Given the description of an element on the screen output the (x, y) to click on. 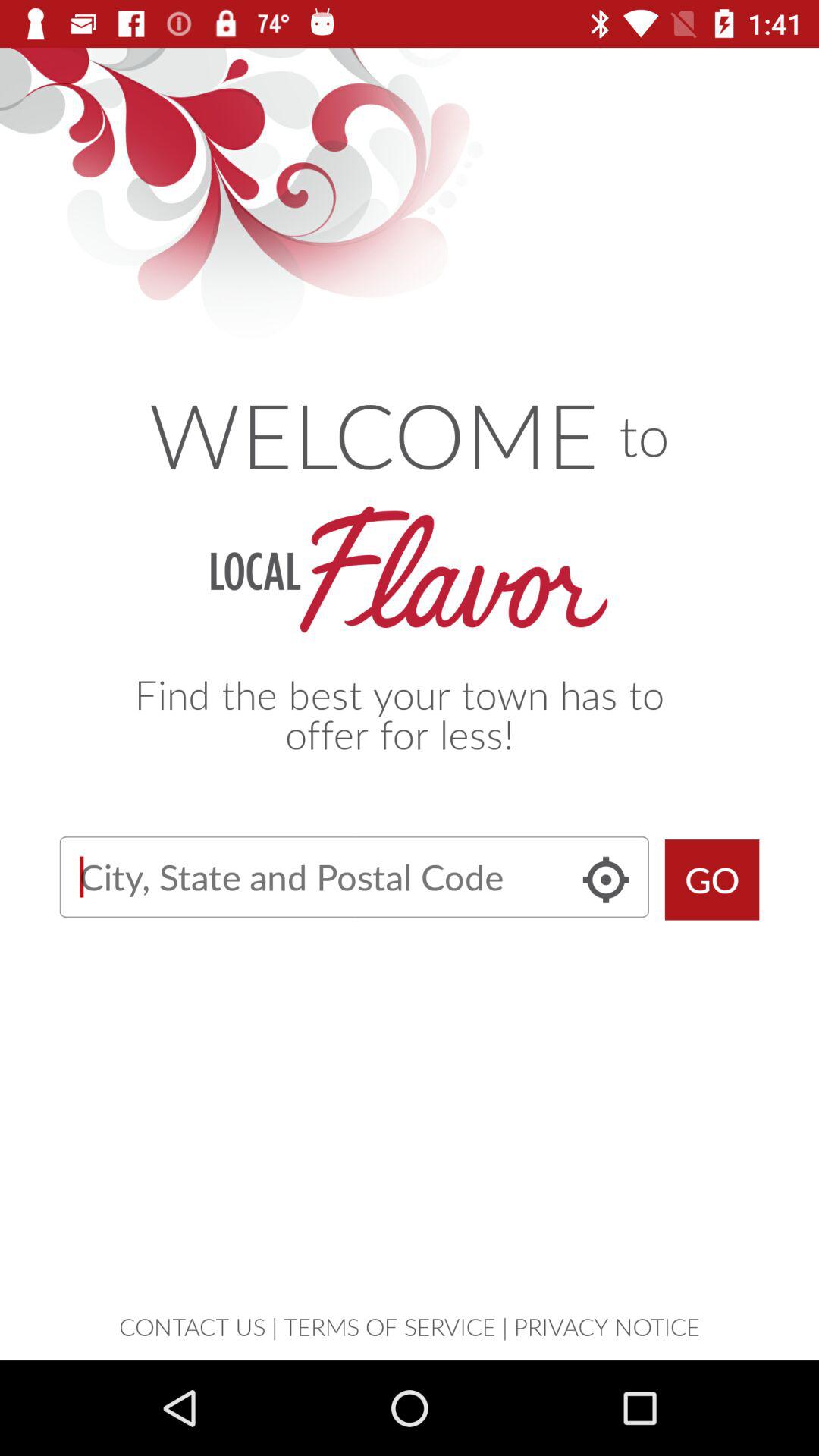
location input box (353, 876)
